Given the description of an element on the screen output the (x, y) to click on. 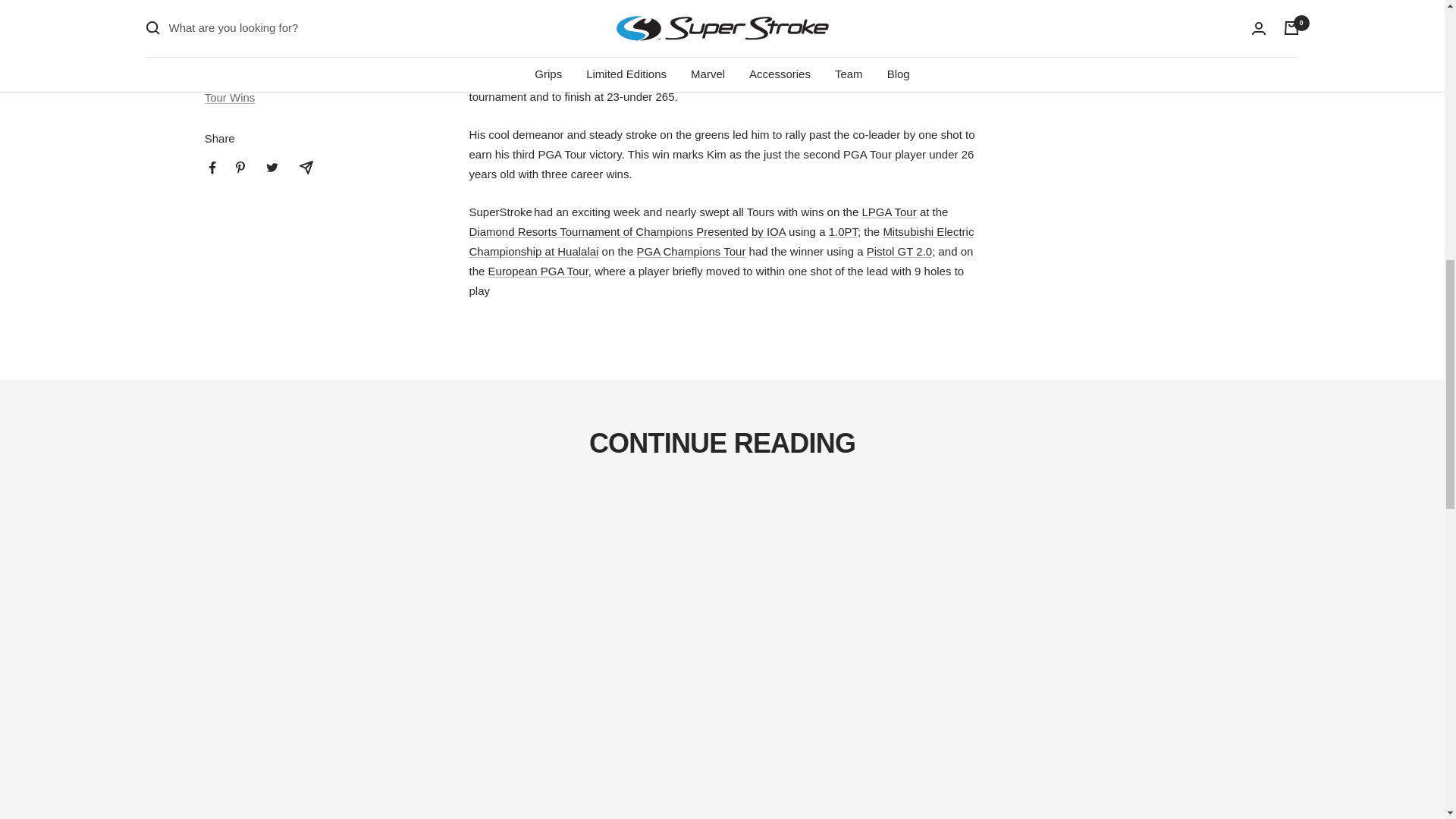
Traxion Tour 2.0. (668, 2)
1.0PT (842, 231)
LPGA Tour (888, 211)
Mitsubishi Electric Championship at Hualalai (721, 241)
0 comments (251, 36)
Tour Wins (230, 97)
Diamond Resorts Tournament of Champions Presented by IOA (626, 231)
